Given the description of an element on the screen output the (x, y) to click on. 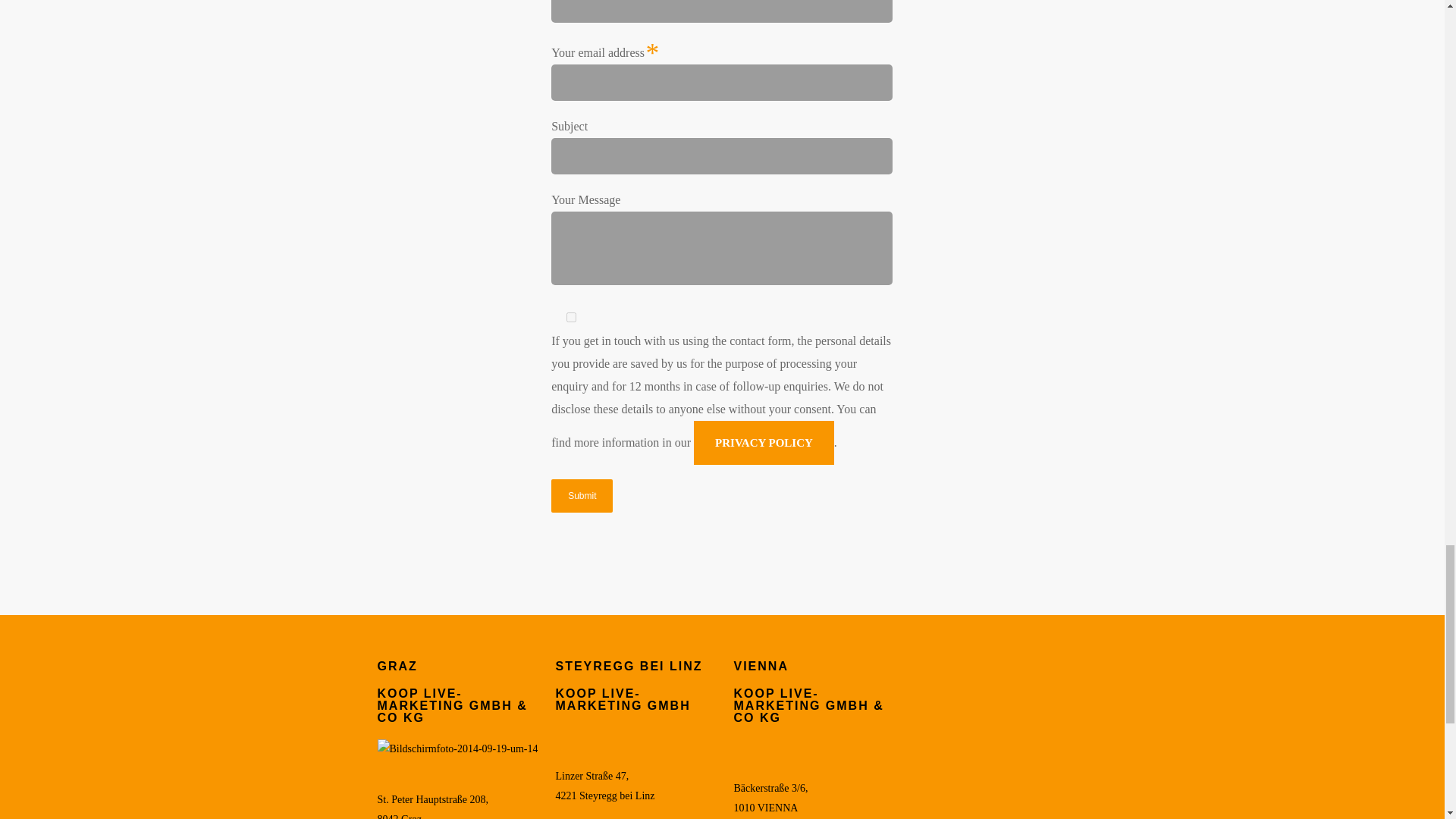
1 (571, 317)
Submit (581, 495)
